Given the description of an element on the screen output the (x, y) to click on. 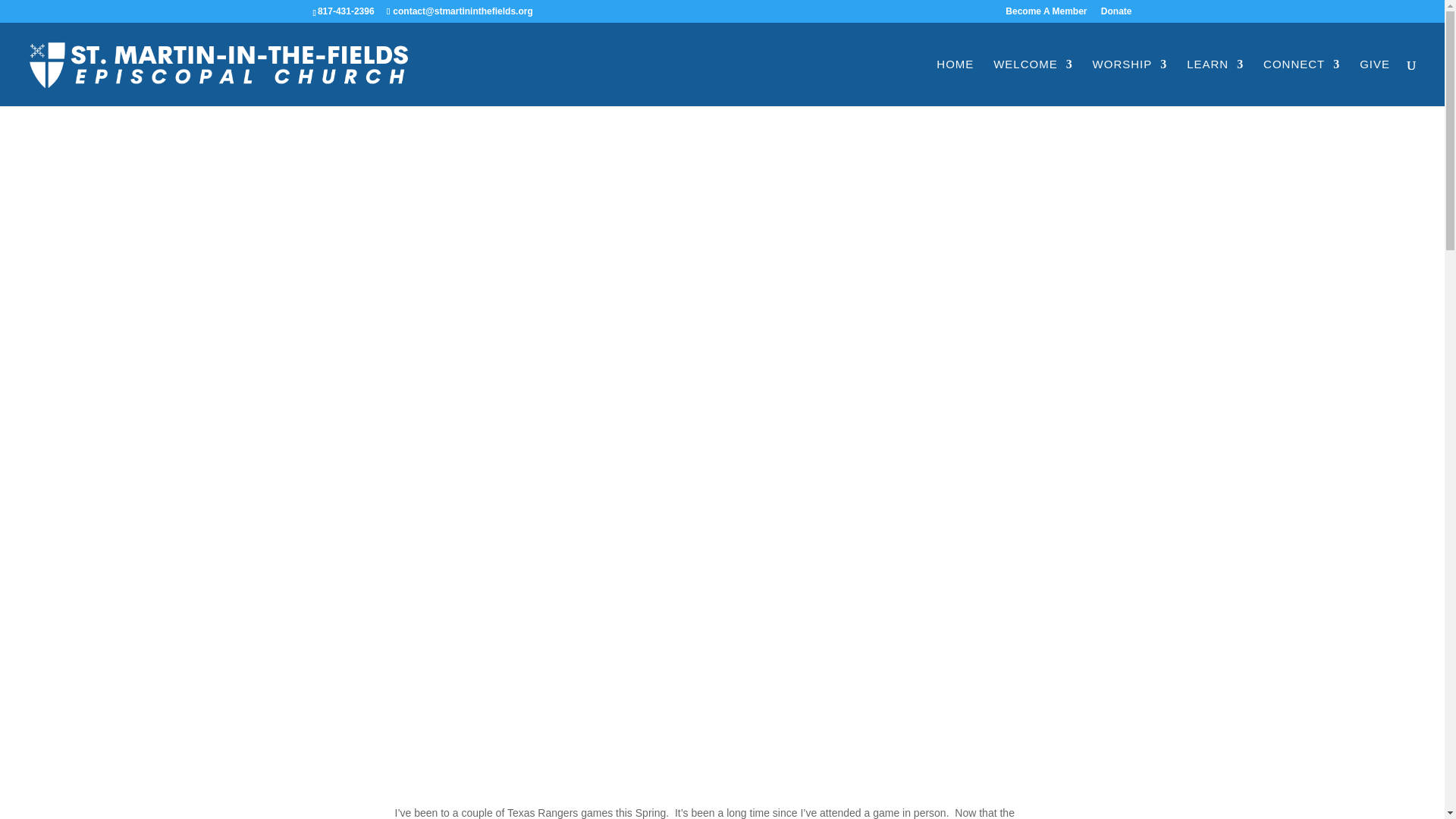
Become A Member (1046, 14)
LEARN (1214, 82)
Donate (1116, 14)
WORSHIP (1130, 82)
WELCOME (1032, 82)
CONNECT (1301, 82)
817-431-2396 (345, 10)
